Given the description of an element on the screen output the (x, y) to click on. 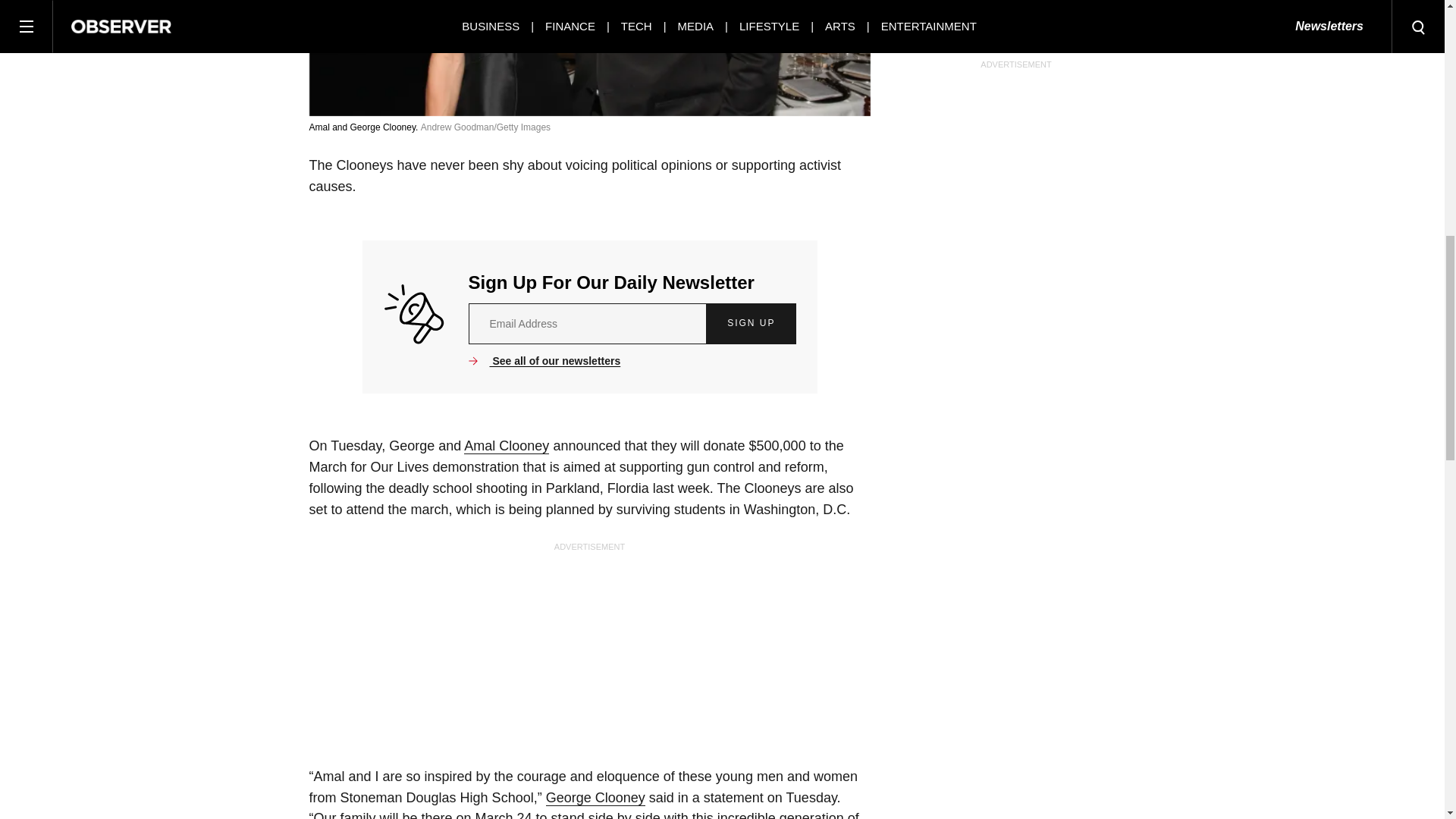
Amal Clooney (506, 446)
